Given the description of an element on the screen output the (x, y) to click on. 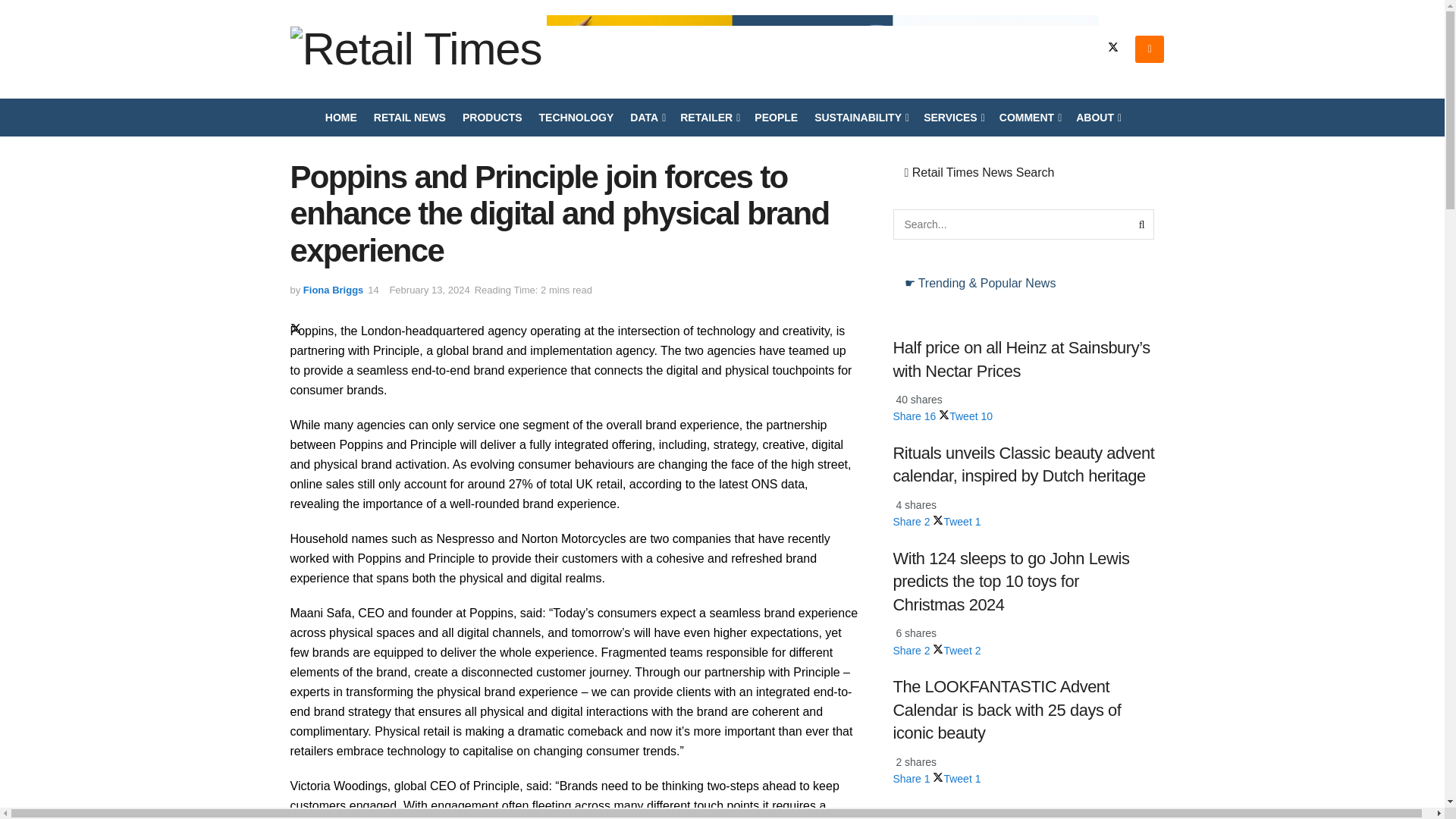
SERVICES (952, 117)
RETAIL NEWS (409, 117)
RETAILER (708, 117)
SUSTAINABILITY (860, 117)
PRODUCTS (492, 117)
PEOPLE (775, 117)
COMMENT (1028, 117)
DATA (646, 117)
HOME (340, 117)
ABOUT (1097, 117)
